Given the description of an element on the screen output the (x, y) to click on. 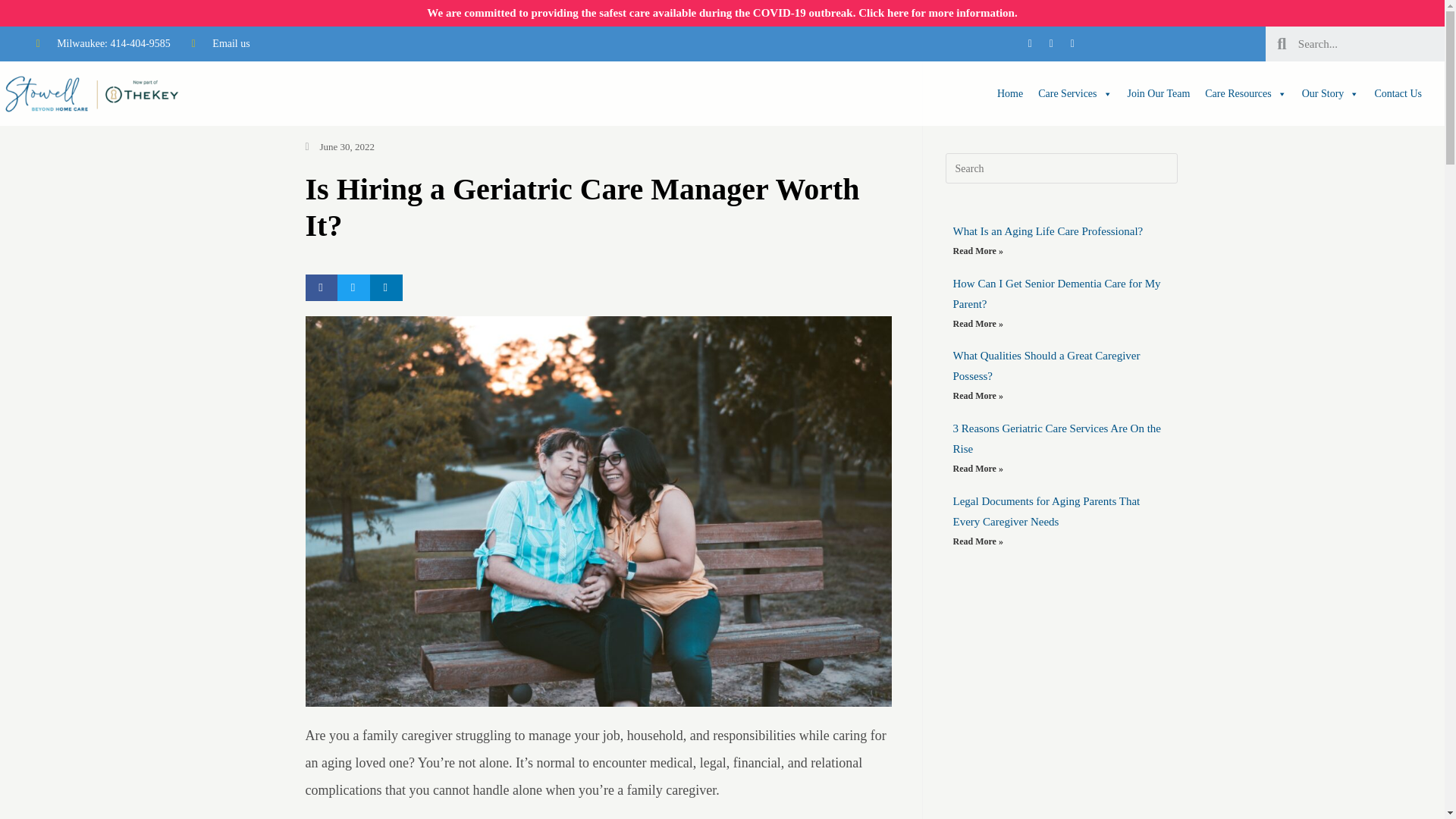
Contact Us (1398, 93)
Care Services (1074, 93)
Home (1010, 93)
Email us (221, 43)
Join Our Team (1158, 93)
Care Resources (1245, 93)
Our Story (1330, 93)
Milwaukee: 414-404-9585 (103, 43)
